Given the description of an element on the screen output the (x, y) to click on. 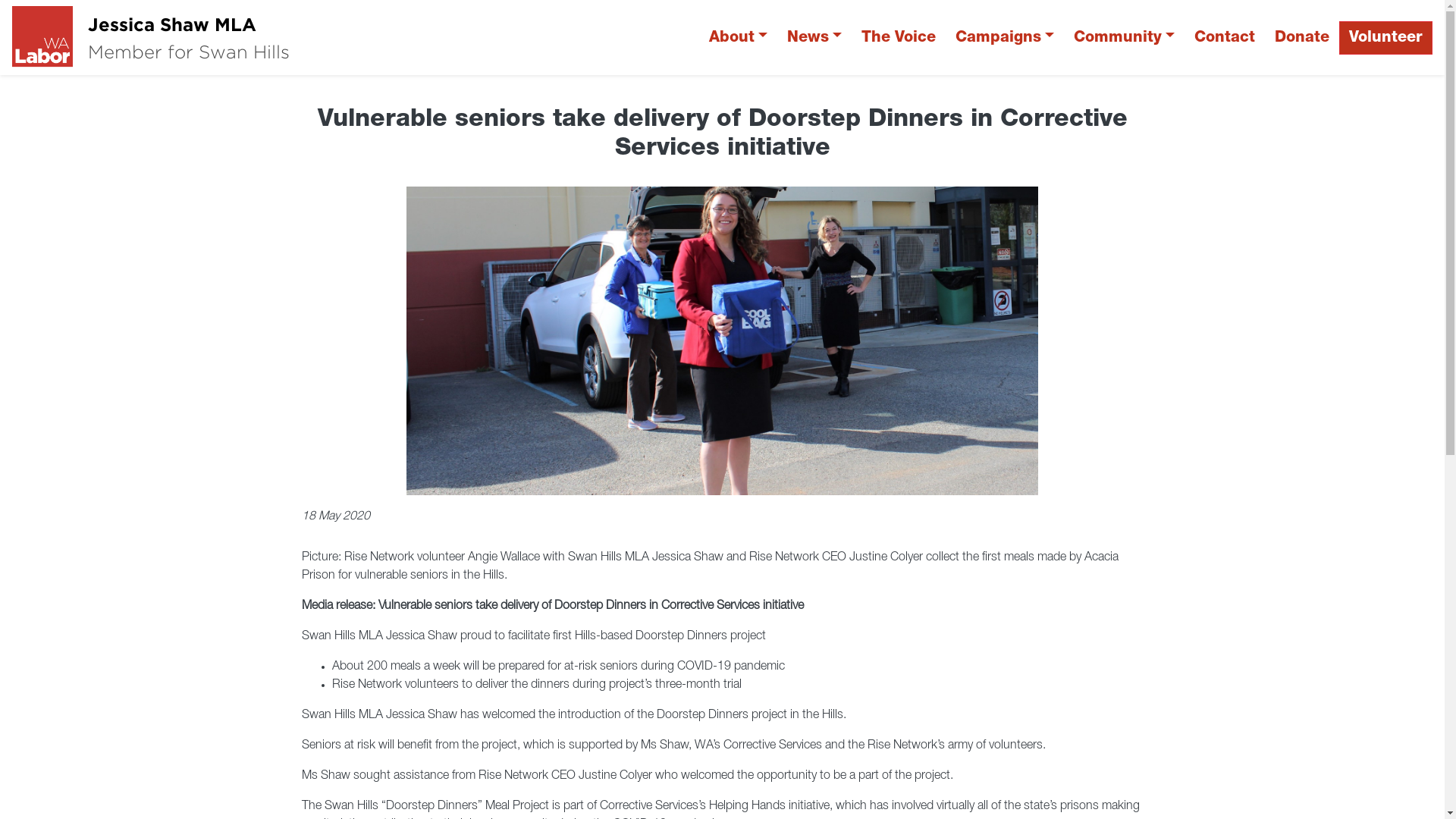
Campaigns Element type: text (1004, 37)
News Element type: text (814, 37)
Community Element type: text (1123, 37)
The Voice Element type: text (898, 37)
Volunteer Element type: text (1385, 37)
About Element type: text (738, 37)
Contact Element type: text (1224, 37)
Donate Element type: text (1301, 37)
